Given the description of an element on the screen output the (x, y) to click on. 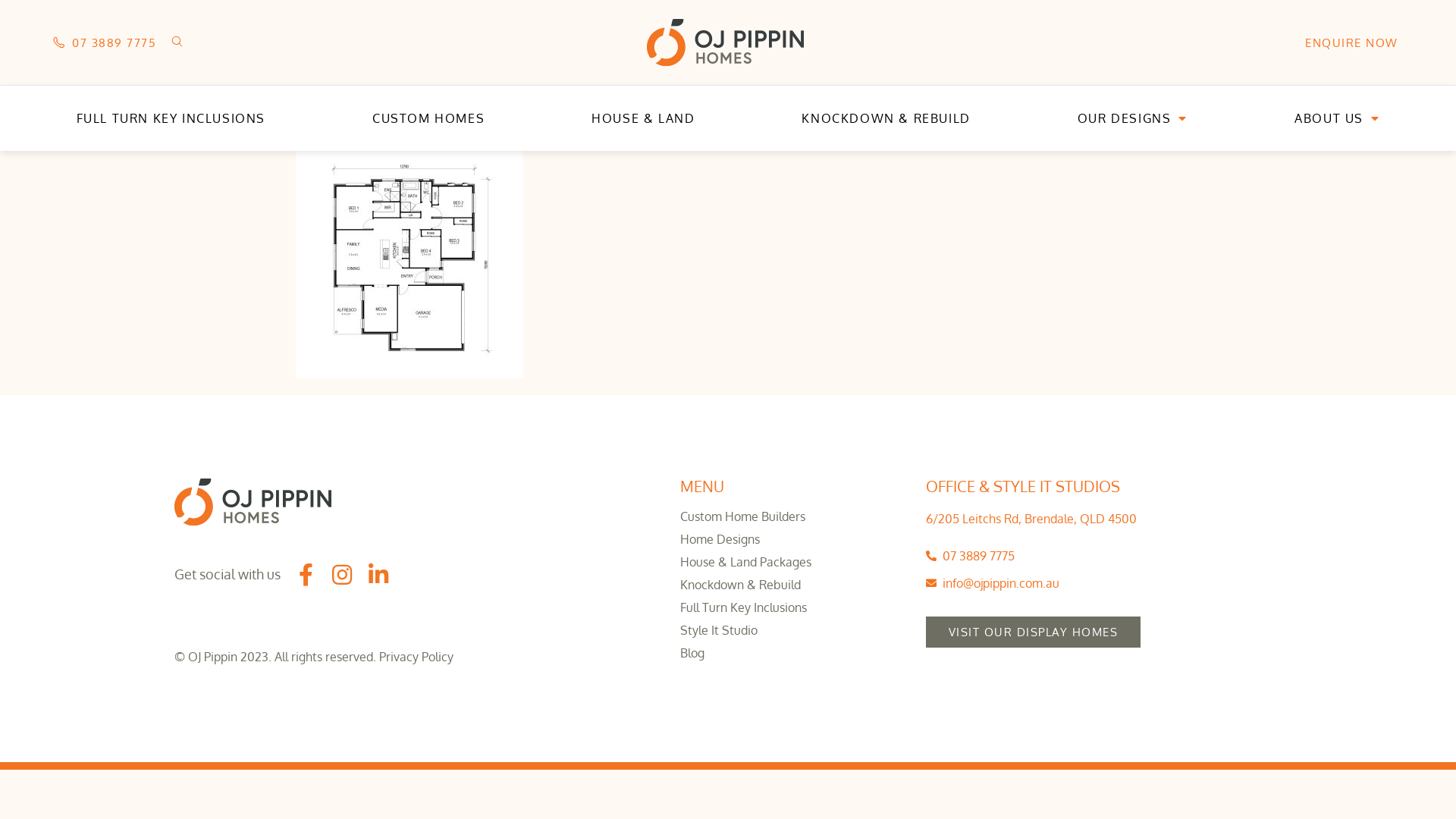
07 3889 7775 Element type: text (104, 41)
FULL TURN KEY INCLUSIONS Element type: text (170, 117)
Privacy Policy Element type: text (416, 656)
House & Land Packages Element type: text (795, 561)
VISIT OUR DISPLAY HOMES Element type: text (1033, 631)
OUR DESIGNS Element type: text (1131, 117)
KNOCKDOWN & REBUILD Element type: text (885, 117)
Custom Home Builders Element type: text (795, 516)
6/205 Leitchs Rd, Brendale, QLD 4500 Element type: text (1030, 518)
ENQUIRE NOW Element type: text (1351, 41)
CUSTOM HOMES Element type: text (427, 117)
Full Turn Key Inclusions Element type: text (795, 607)
Blog Element type: text (795, 652)
Style It Studio Element type: text (795, 629)
07 3889 7775 Element type: text (1099, 556)
ABOUT US Element type: text (1337, 117)
info@ojpippin.com.au Element type: text (1099, 583)
Home Designs Element type: text (795, 538)
Knockdown & Rebuild Element type: text (795, 584)
HOUSE & LAND Element type: text (643, 117)
